Given the description of an element on the screen output the (x, y) to click on. 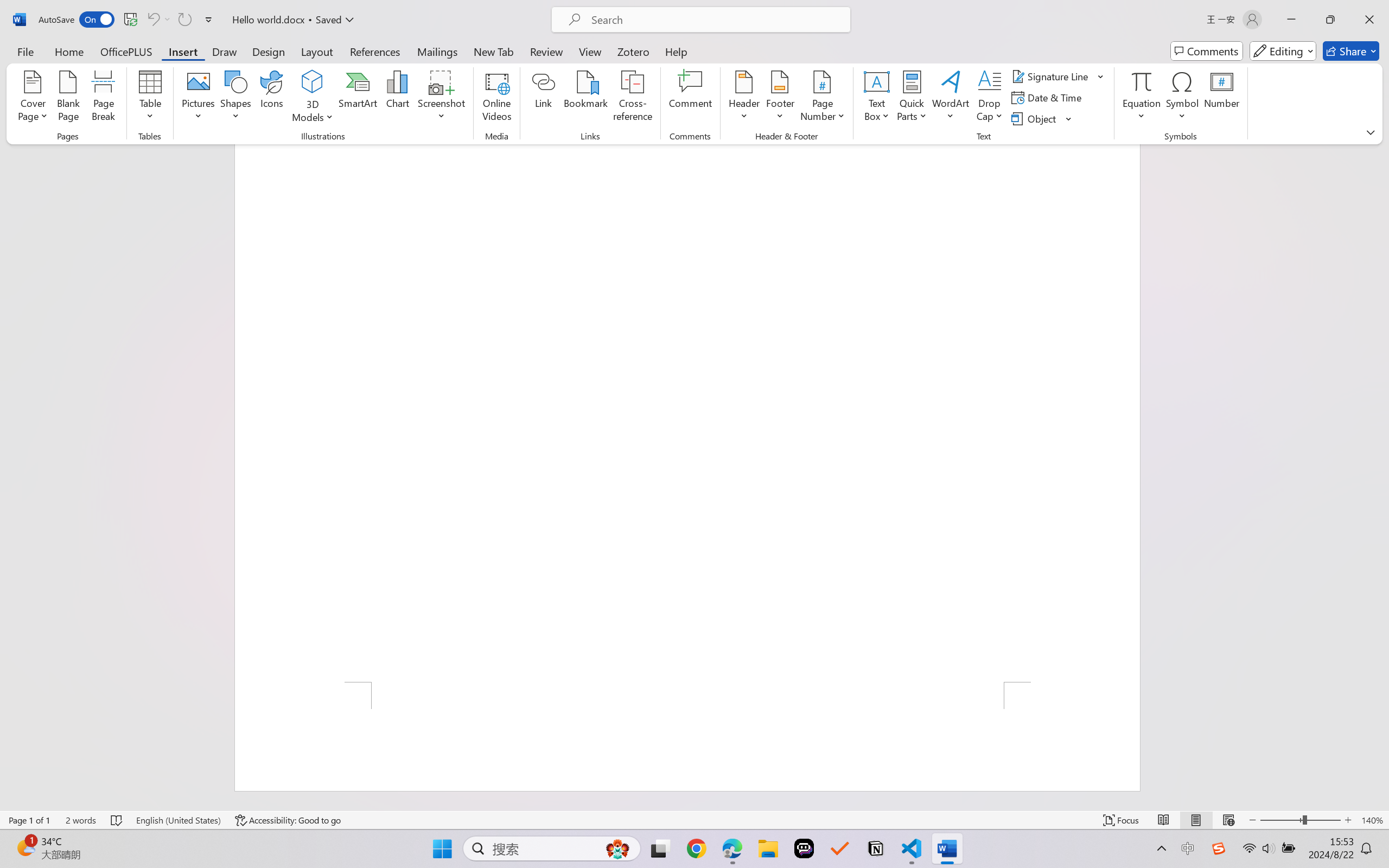
File Tab (24, 51)
Home (69, 51)
Can't Repeat (184, 19)
Comments (1206, 50)
Accessibility Checker Accessibility: Good to go (288, 819)
Print Layout (1196, 819)
Microsoft search (715, 19)
Can't Undo (158, 19)
Notion (875, 848)
Zoom (1300, 819)
